Given the description of an element on the screen output the (x, y) to click on. 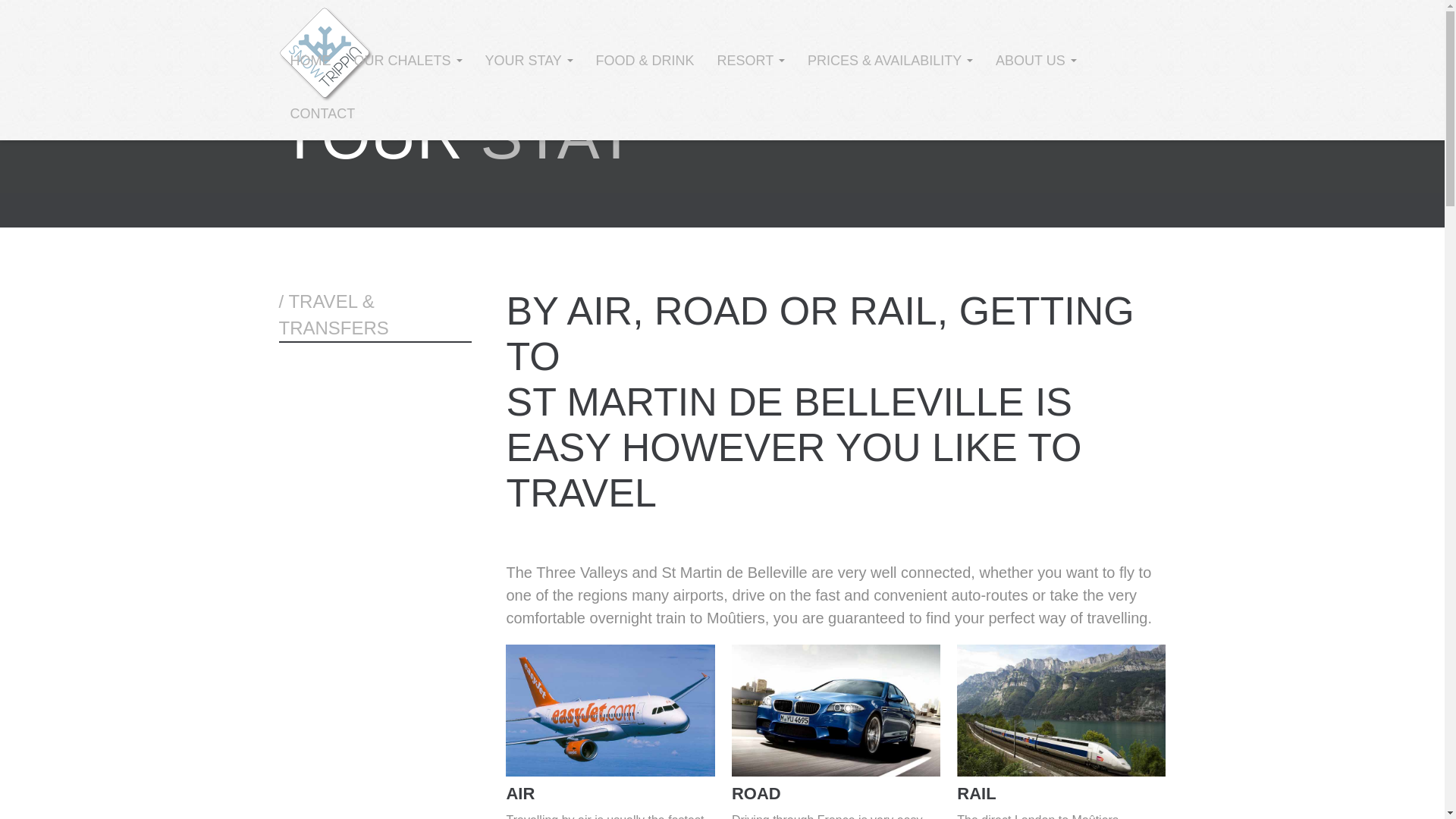
Snow Trippin Catered Chalets, St Martin de Belleville (325, 54)
CONTACT (322, 107)
